Given the description of an element on the screen output the (x, y) to click on. 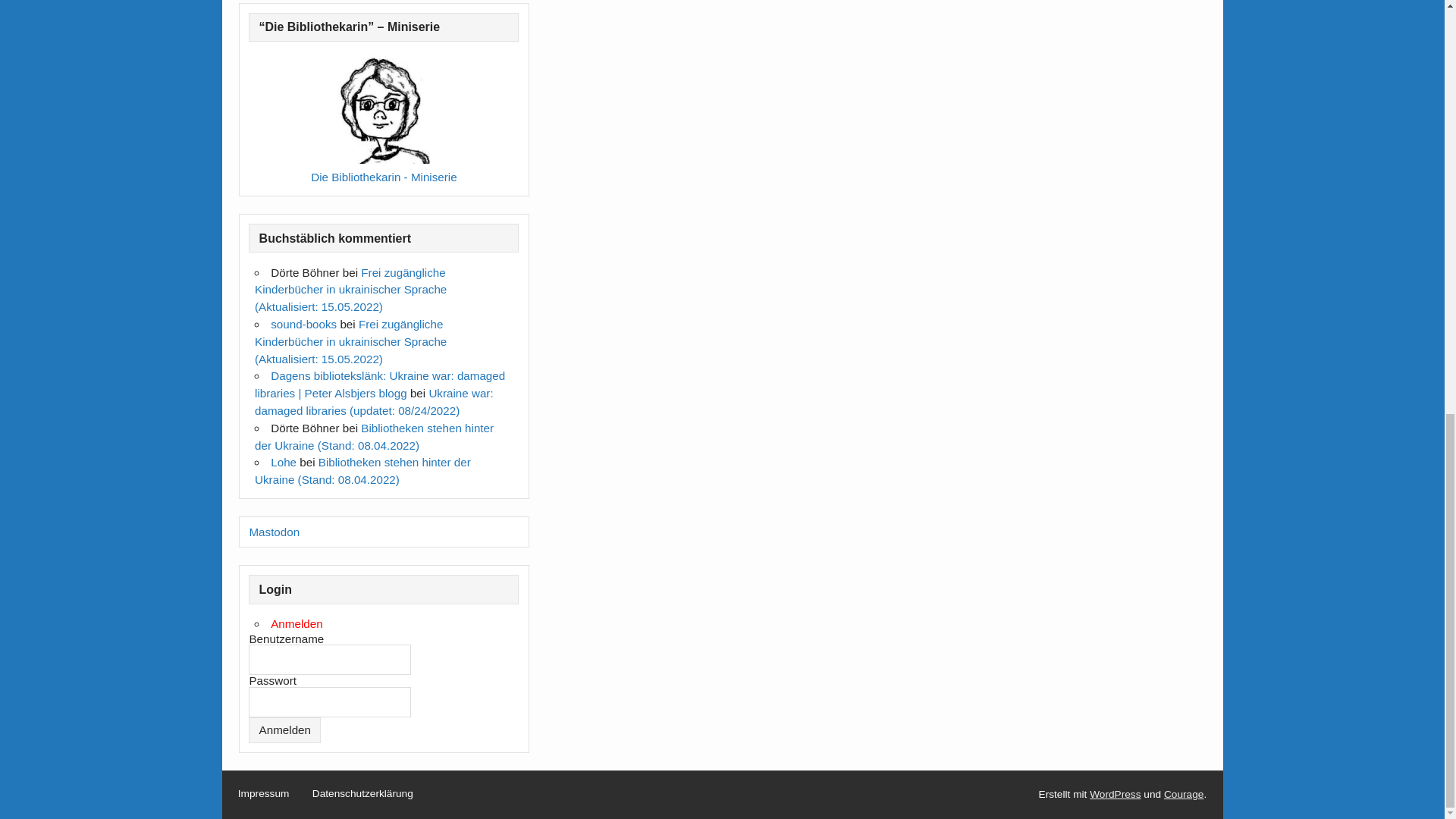
Anmelden (284, 729)
WordPress (1114, 794)
Courage WordPress Theme (1183, 794)
